Given the description of an element on the screen output the (x, y) to click on. 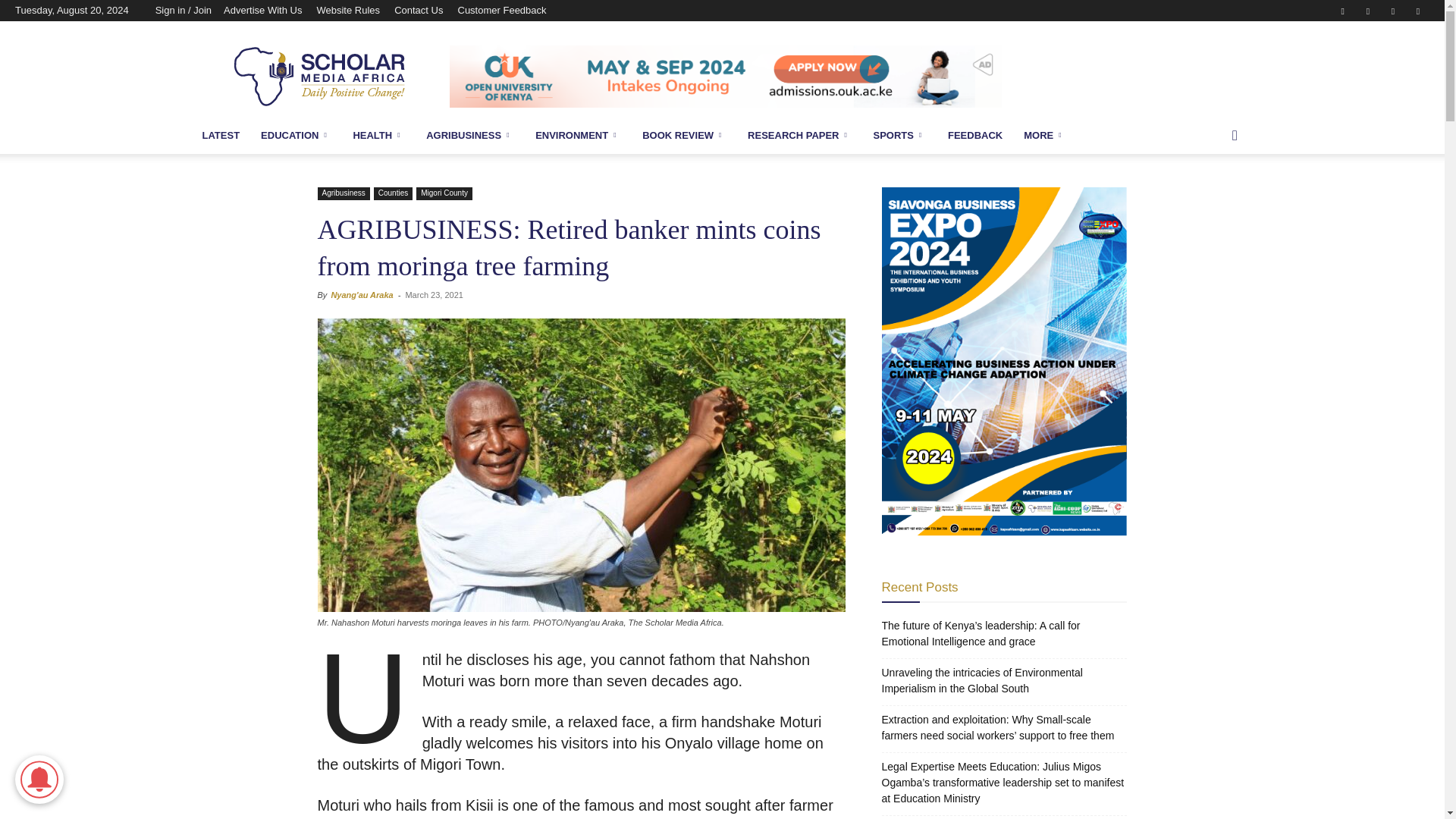
Scholar Media Africa Logo (319, 76)
Linkedin (1367, 10)
Youtube (1417, 10)
Twitter (1393, 10)
Facebook (1343, 10)
